Given the description of an element on the screen output the (x, y) to click on. 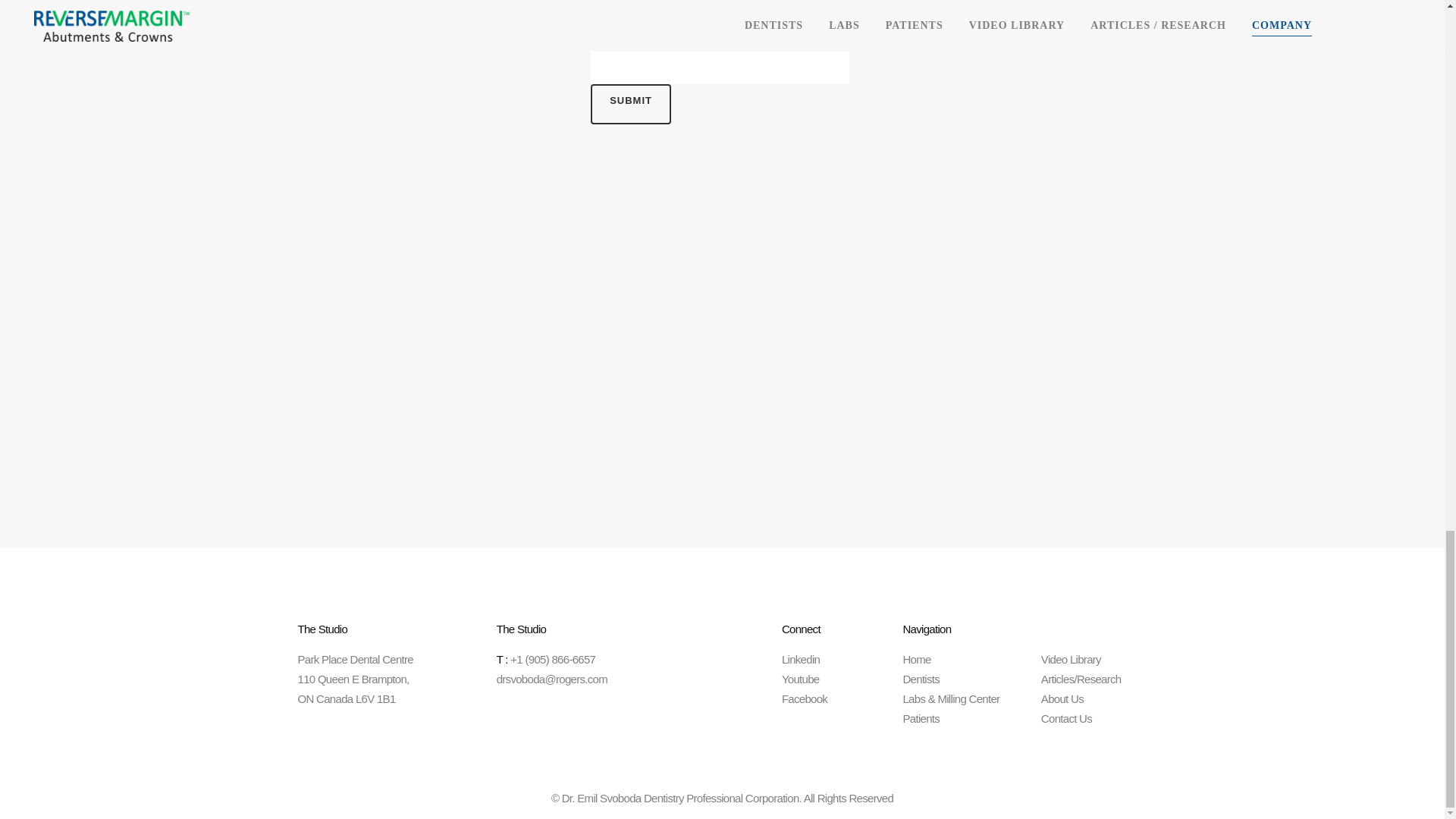
Youtube (800, 678)
Home (916, 658)
Linkedin (800, 658)
Submit (631, 104)
Dentists (920, 678)
Submit (631, 104)
Video Library (1070, 658)
Contact Us (1066, 717)
About Us (1062, 698)
Facebook (804, 698)
Patients (920, 717)
